Given the description of an element on the screen output the (x, y) to click on. 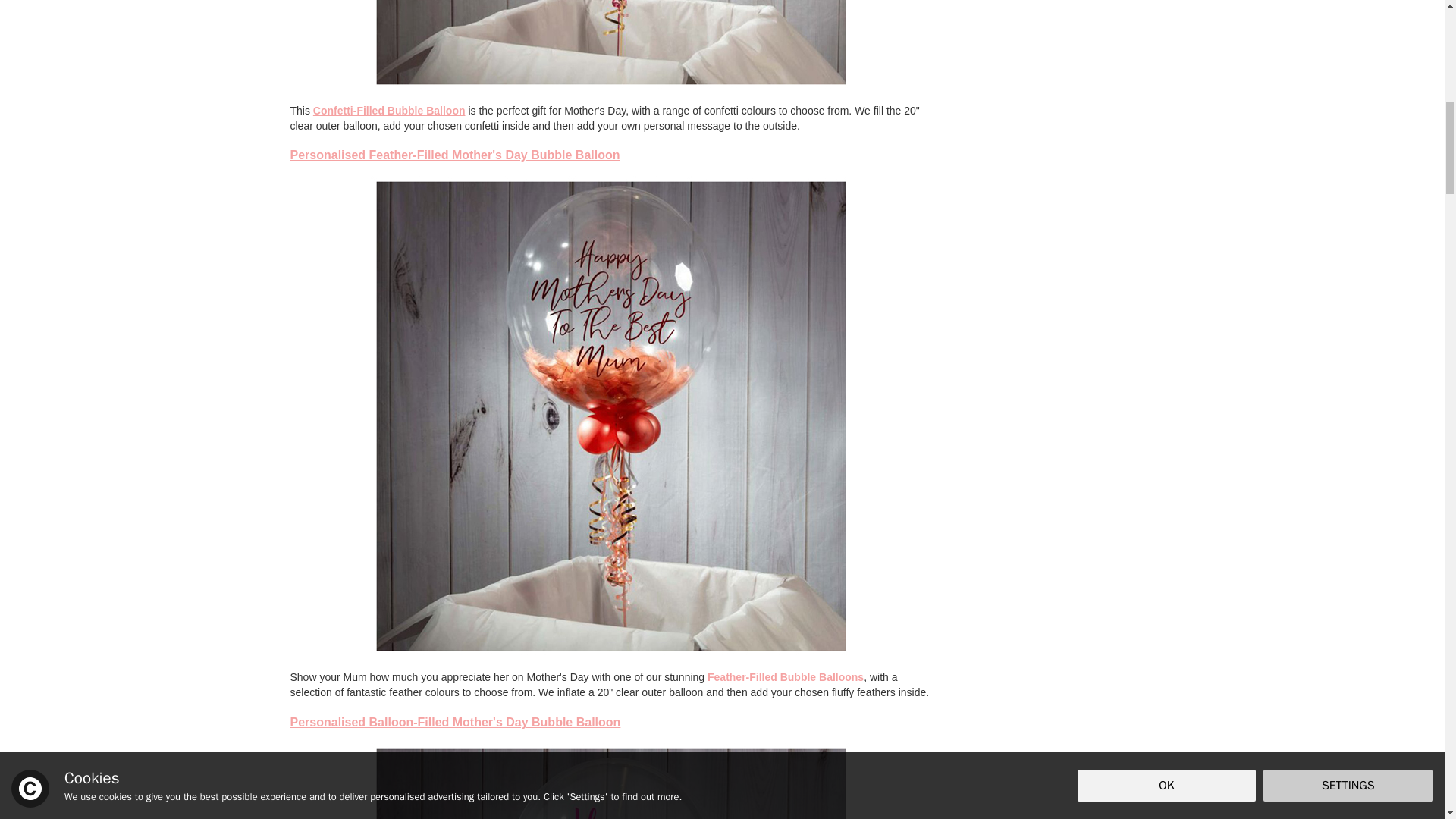
Personalised Feather-Filled Mother's Day Bubble Balloon (454, 154)
Feather-Filled Bubble Balloons (785, 676)
Confetti-Filled Bubble Balloon (389, 110)
Personalised Balloon-Filled Mother's Day Bubble Balloon (454, 721)
